Given the description of an element on the screen output the (x, y) to click on. 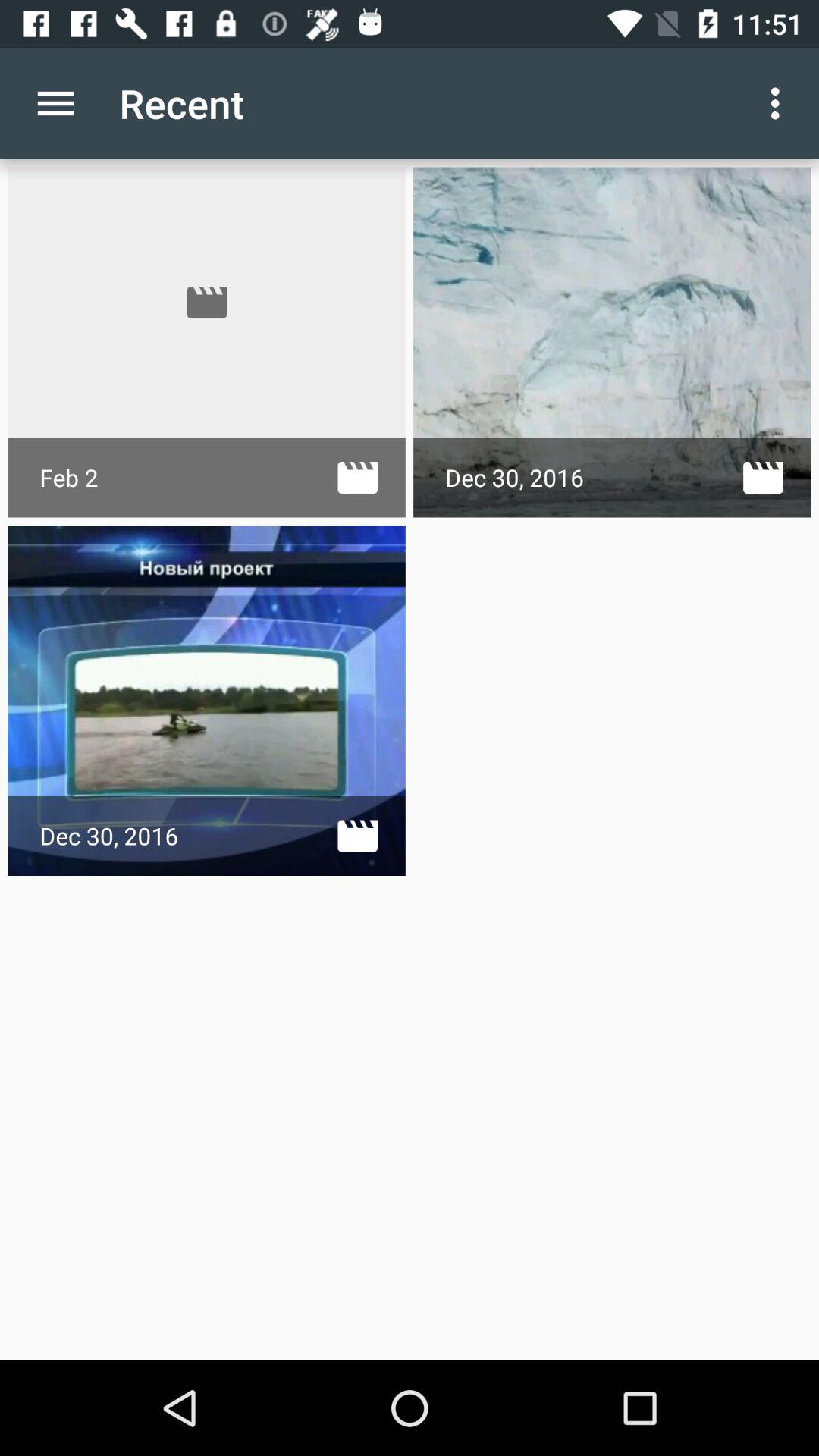
turn off the icon next to recent item (55, 103)
